Given the description of an element on the screen output the (x, y) to click on. 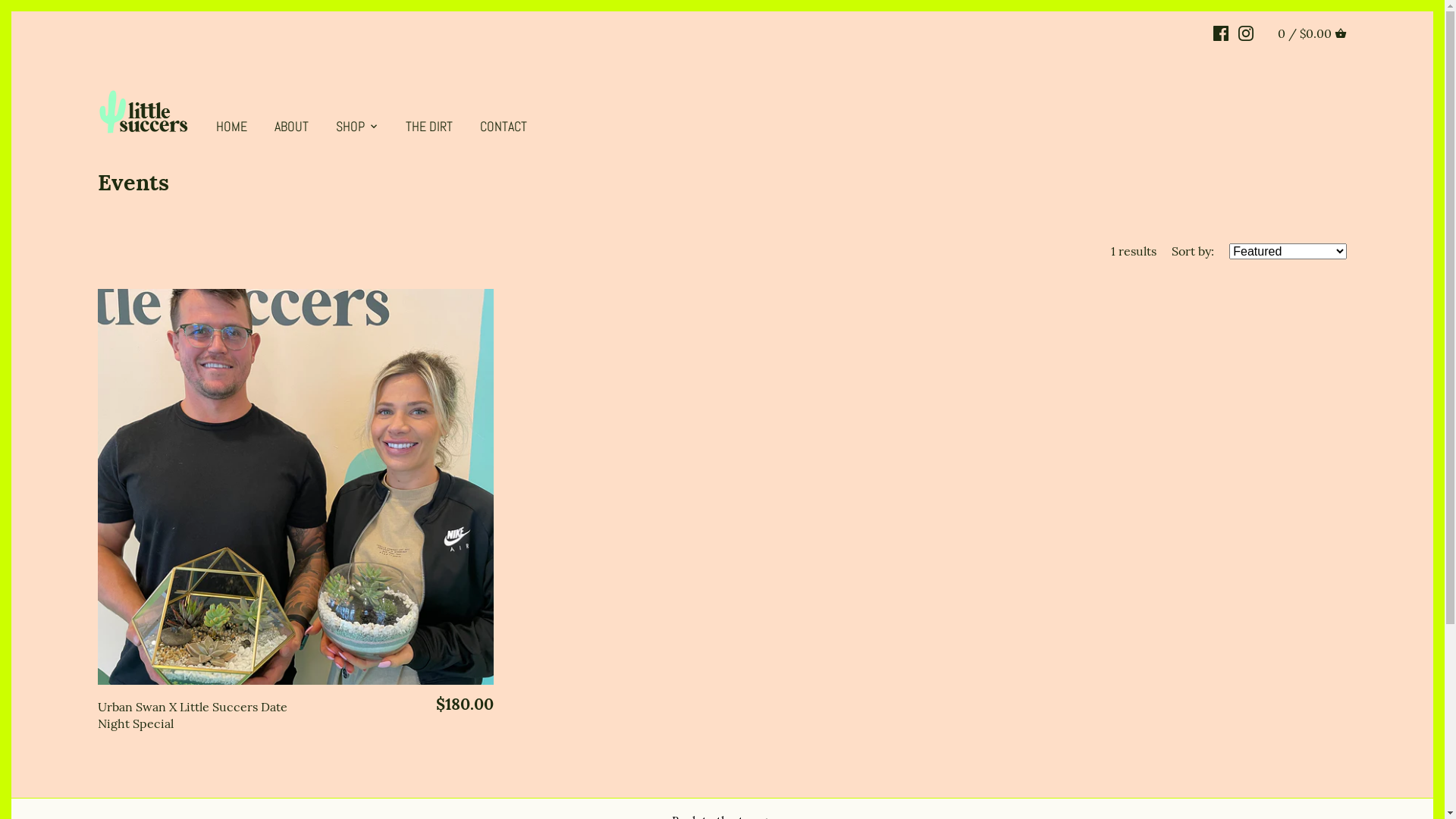
INSTAGRAM Element type: text (1245, 31)
CONTACT Element type: text (503, 129)
ABOUT Element type: text (291, 129)
HOME Element type: text (238, 129)
THE DIRT Element type: text (429, 129)
FACEBOOK Element type: text (1220, 31)
SHOP Element type: text (350, 129)
Urban Swan X Little Succers Date Night Special Element type: text (196, 713)
0 / $0.00 CART Element type: text (1311, 32)
